Given the description of an element on the screen output the (x, y) to click on. 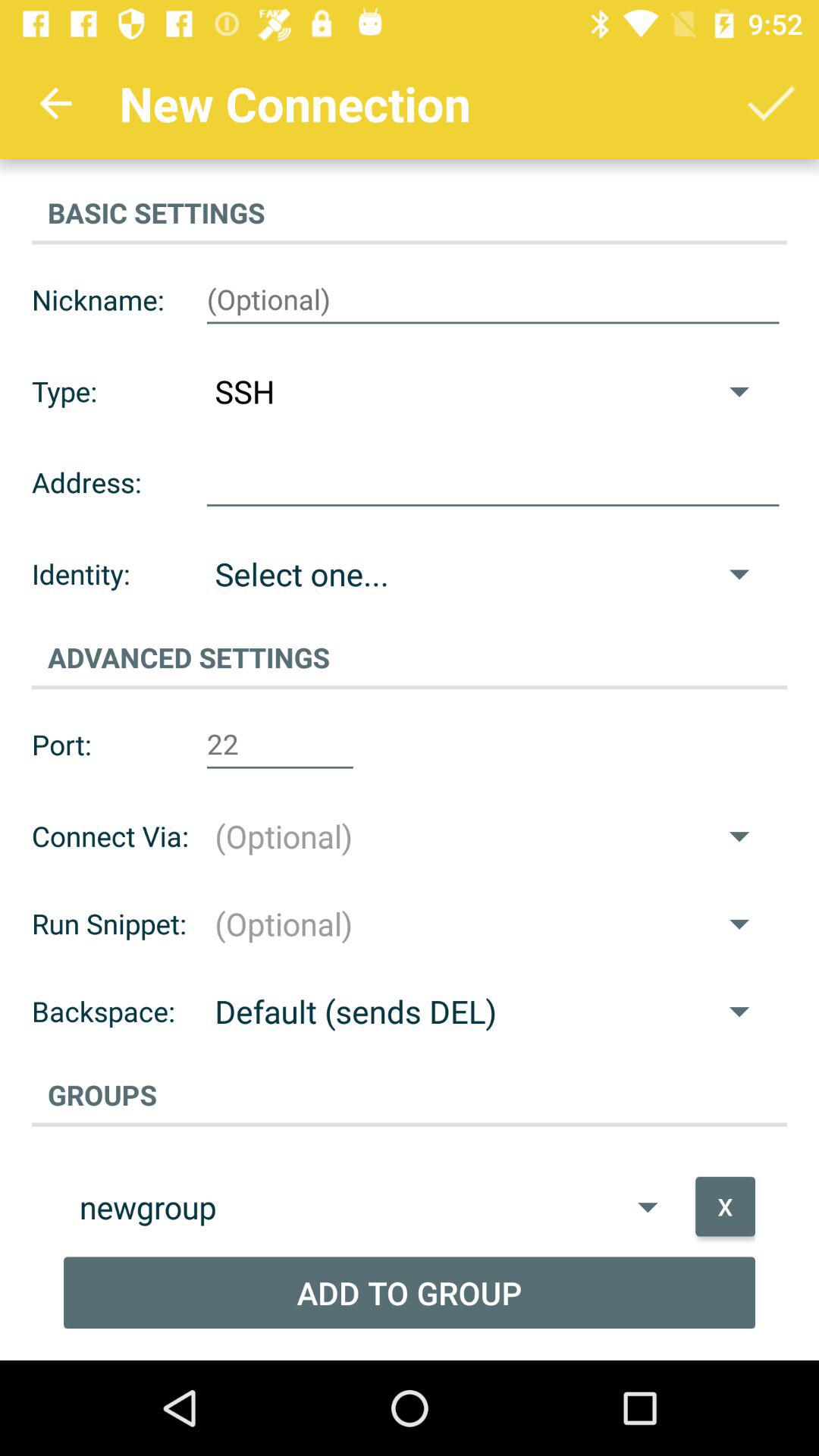
fill in my address (493, 482)
